Given the description of an element on the screen output the (x, y) to click on. 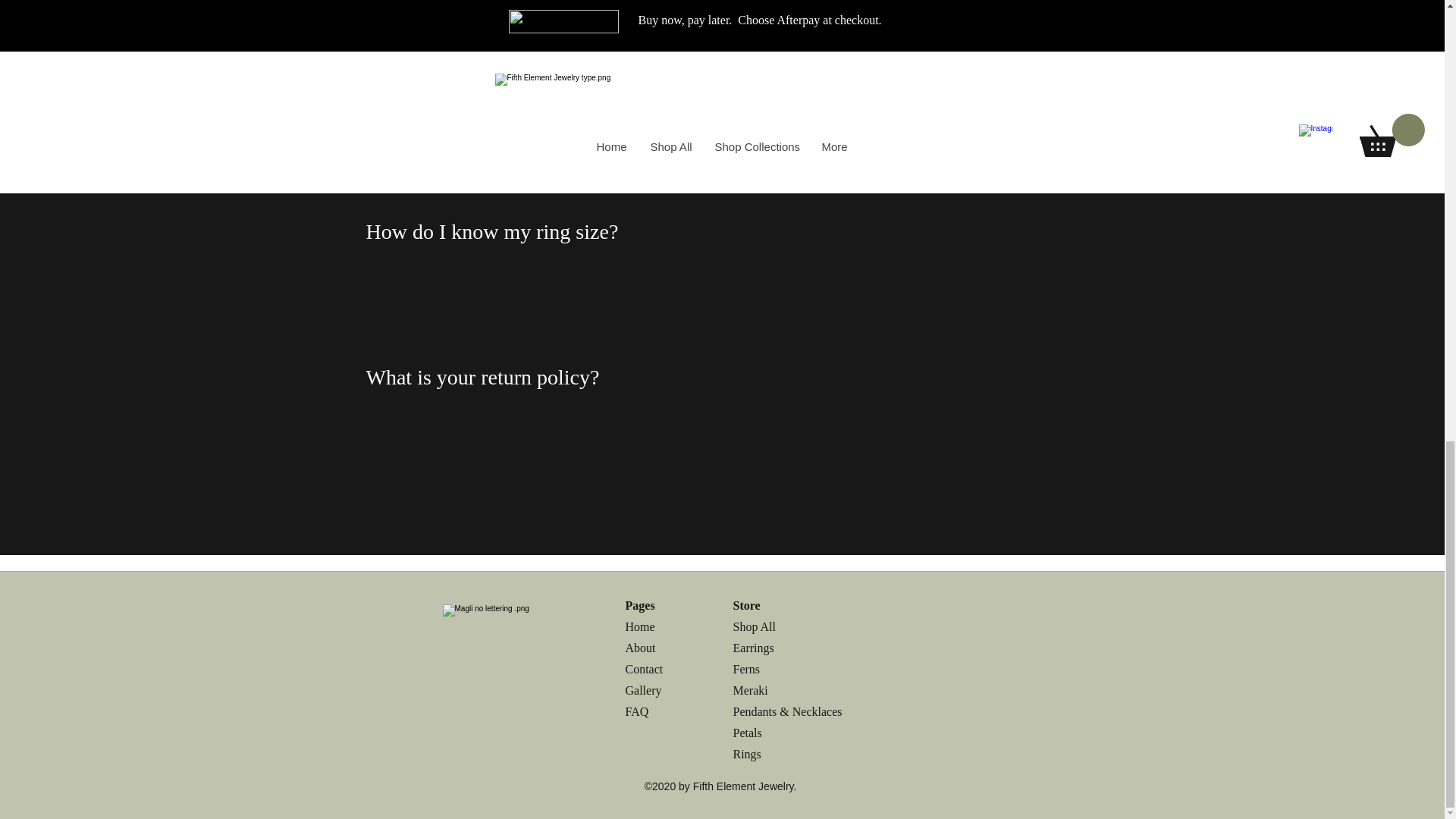
Contact (643, 668)
Meraki (749, 689)
Gallery  (643, 689)
Rings (746, 753)
About (639, 647)
Ferns  (747, 668)
Home (638, 626)
Petals  (748, 732)
FAQ (635, 711)
Earrings  (754, 647)
Shop All  (754, 626)
